Given the description of an element on the screen output the (x, y) to click on. 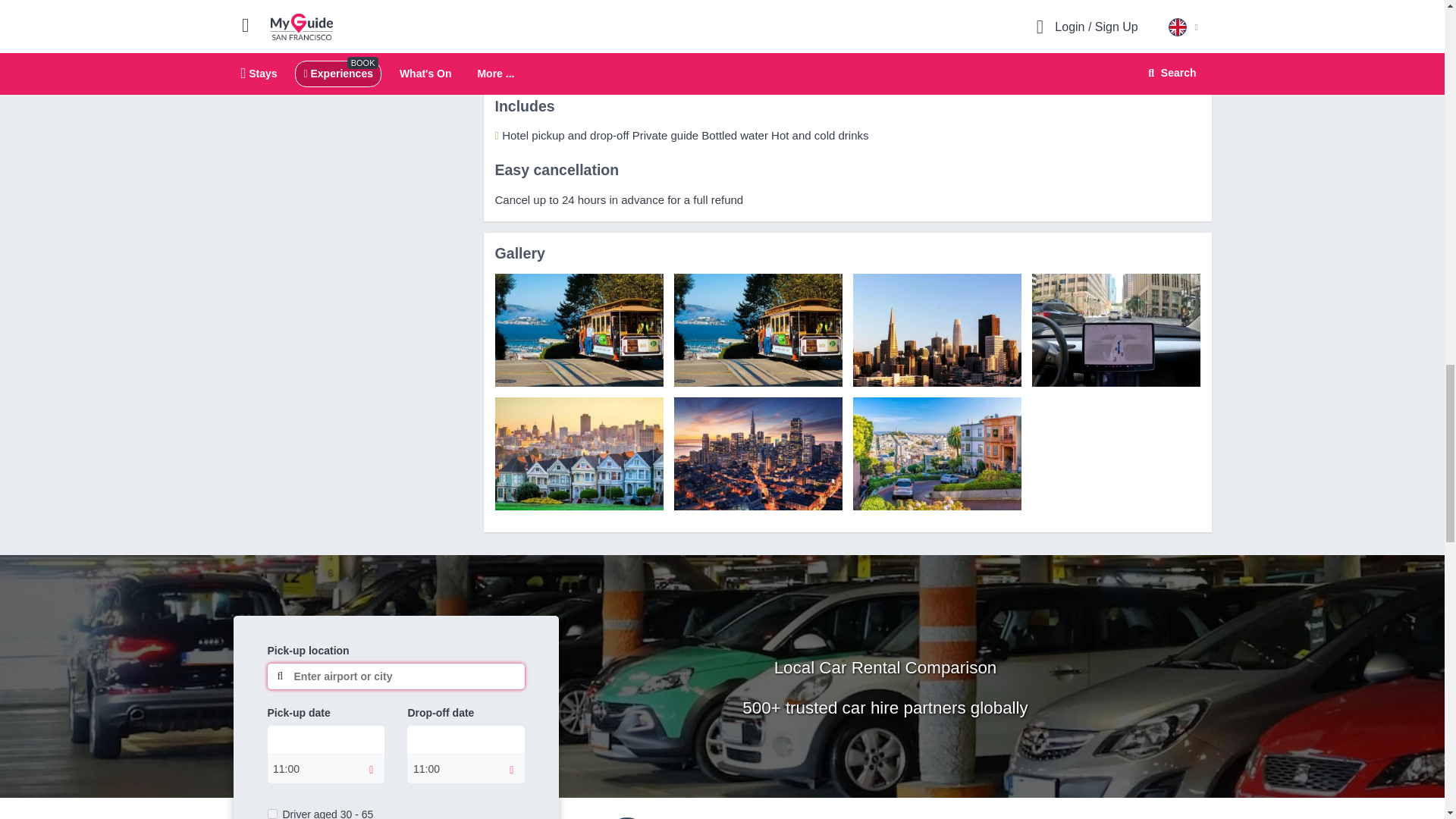
on (271, 814)
San Francisco: Private Highlights Tour by SUV (578, 329)
